Given the description of an element on the screen output the (x, y) to click on. 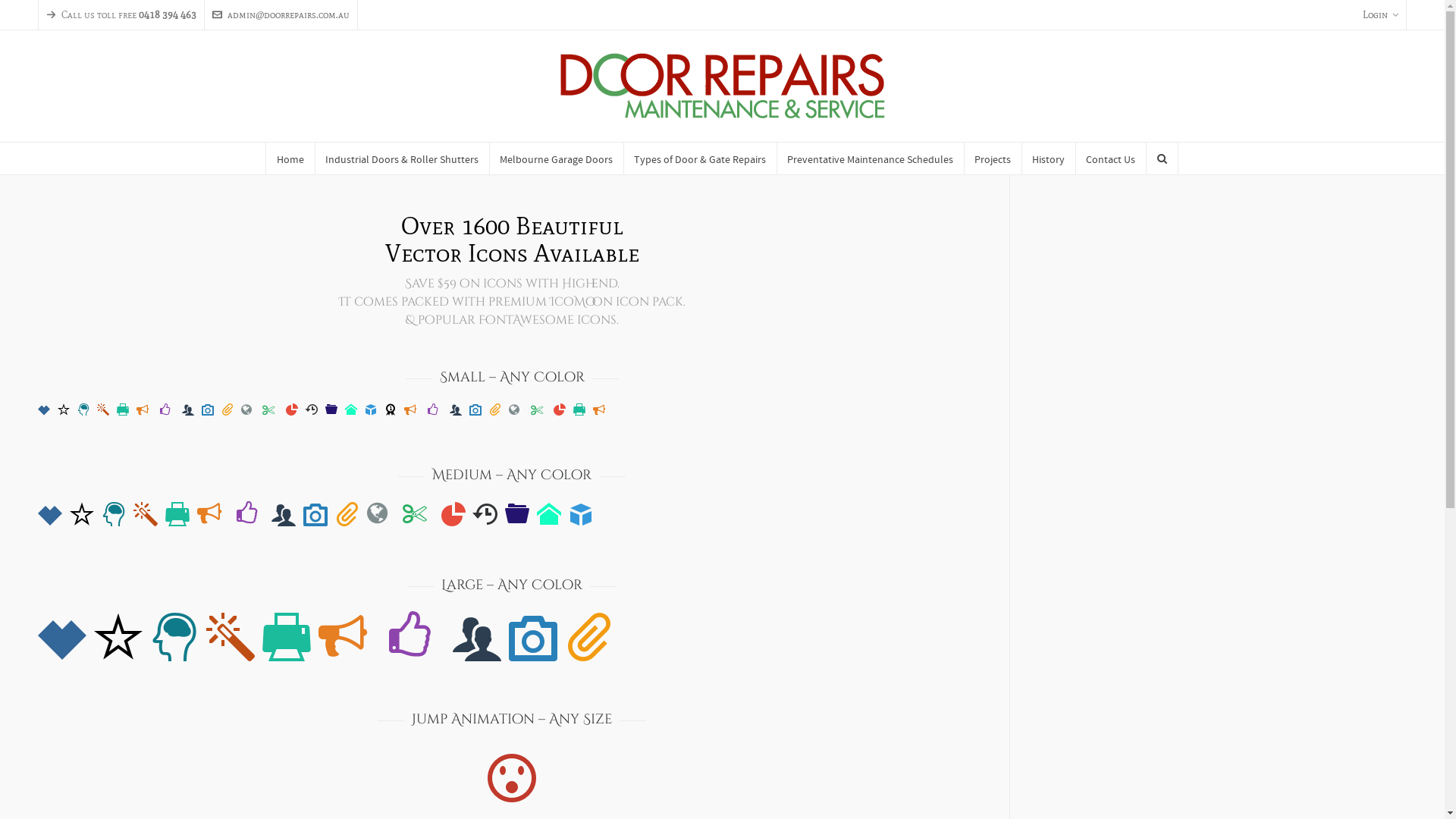
Industrial Doors & Roller Shutters Element type: text (401, 158)
Contact Us Element type: text (1110, 158)
Melbourne Garage Doors Element type: text (555, 158)
Preventative Maintenance Schedules Element type: text (870, 158)
Types of Door & Gate Repairs Element type: text (700, 158)
Home Element type: text (290, 158)
Projects Element type: text (992, 158)
Login Element type: text (1380, 15)
admin@doorrepairs.com.au Element type: text (280, 15)
History Element type: text (1047, 158)
